Given the description of an element on the screen output the (x, y) to click on. 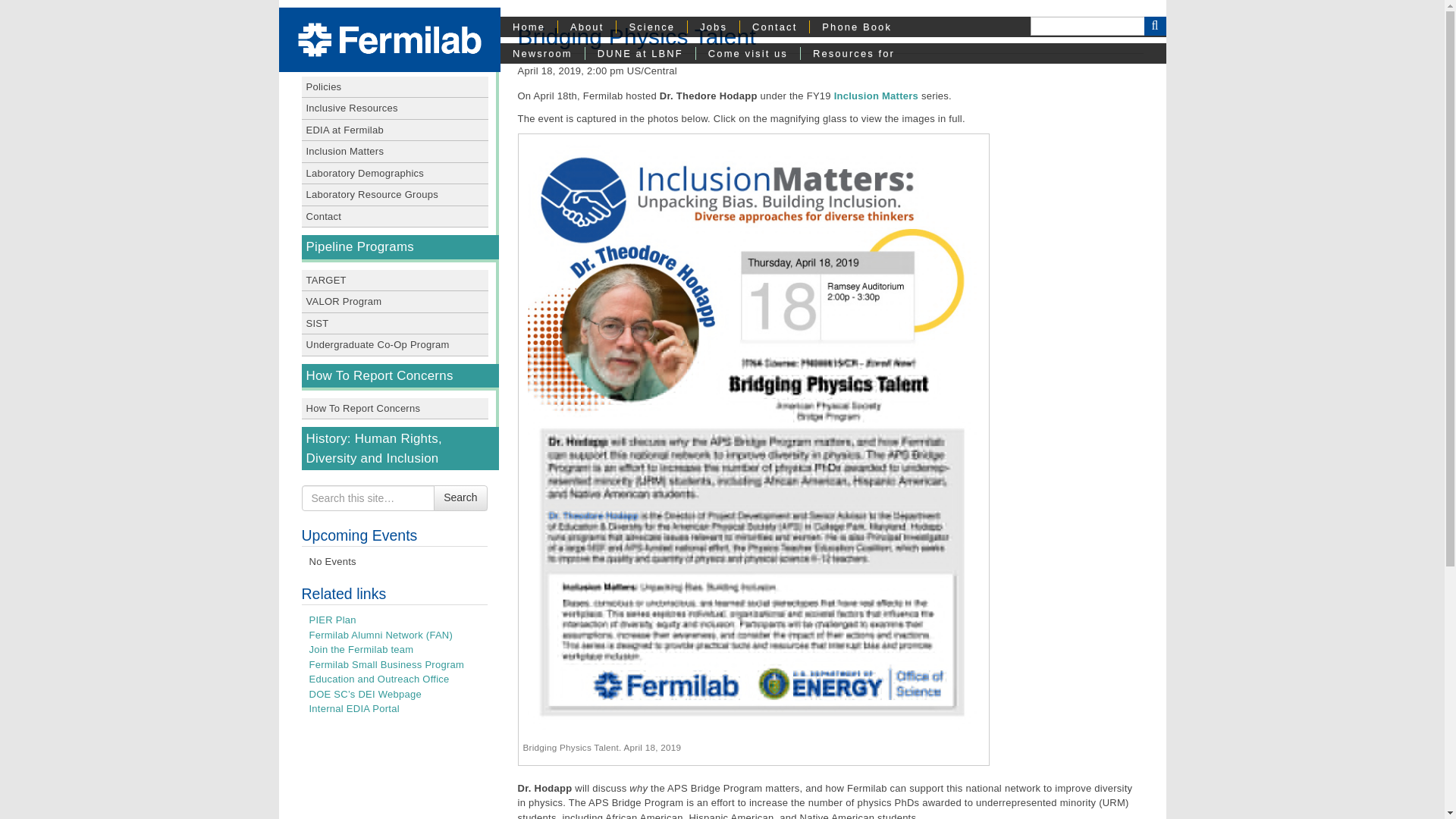
DUNE at LBNF (640, 52)
Contact (774, 26)
Resources for (853, 52)
Jobs (713, 26)
Home (528, 26)
Come visit us (747, 52)
Fermilab (389, 39)
Newsroom (542, 52)
Phone Book (856, 26)
Search for: (368, 498)
Science (651, 26)
About (586, 26)
